Given the description of an element on the screen output the (x, y) to click on. 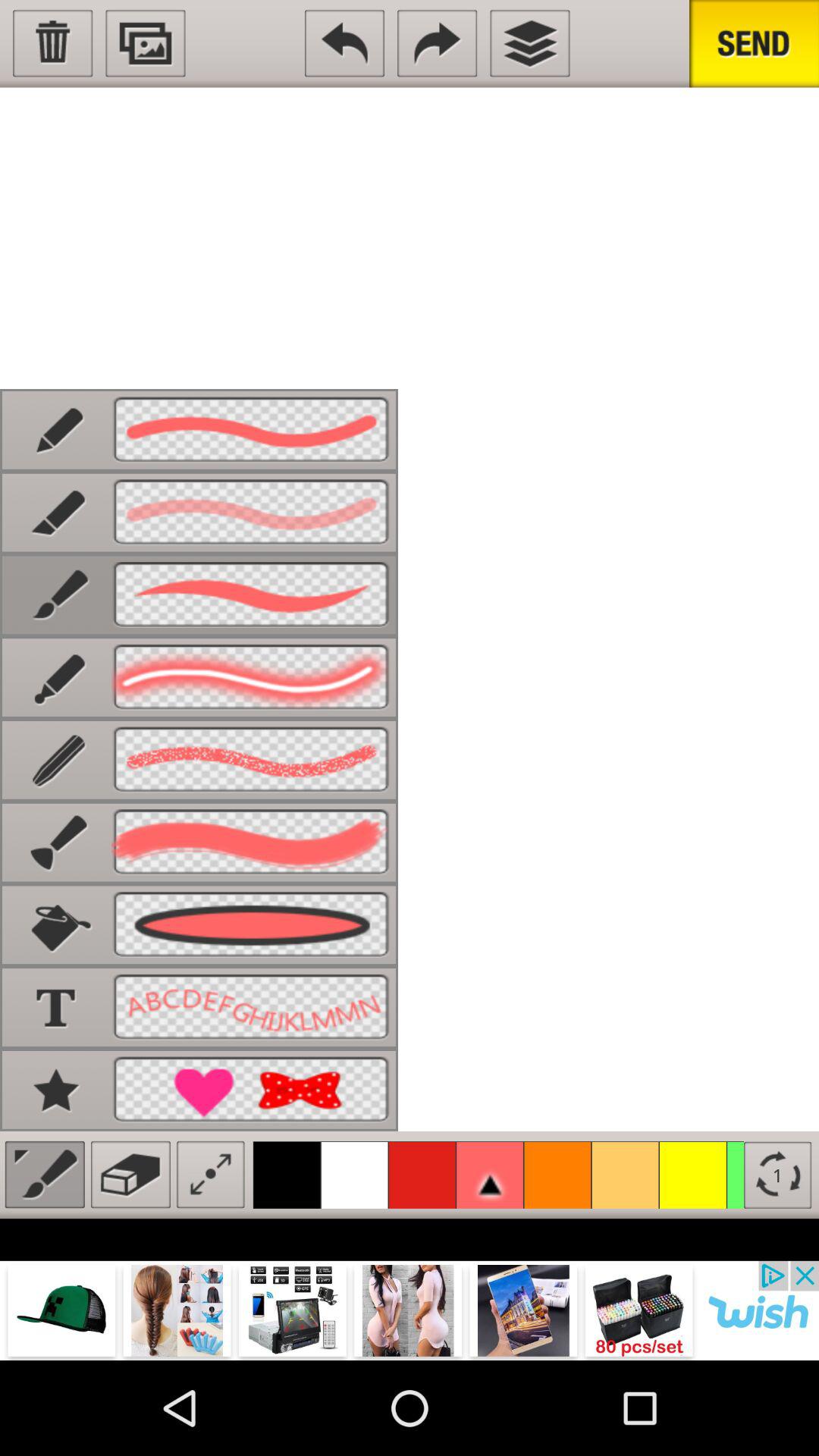
select paintbrush (44, 1174)
